Given the description of an element on the screen output the (x, y) to click on. 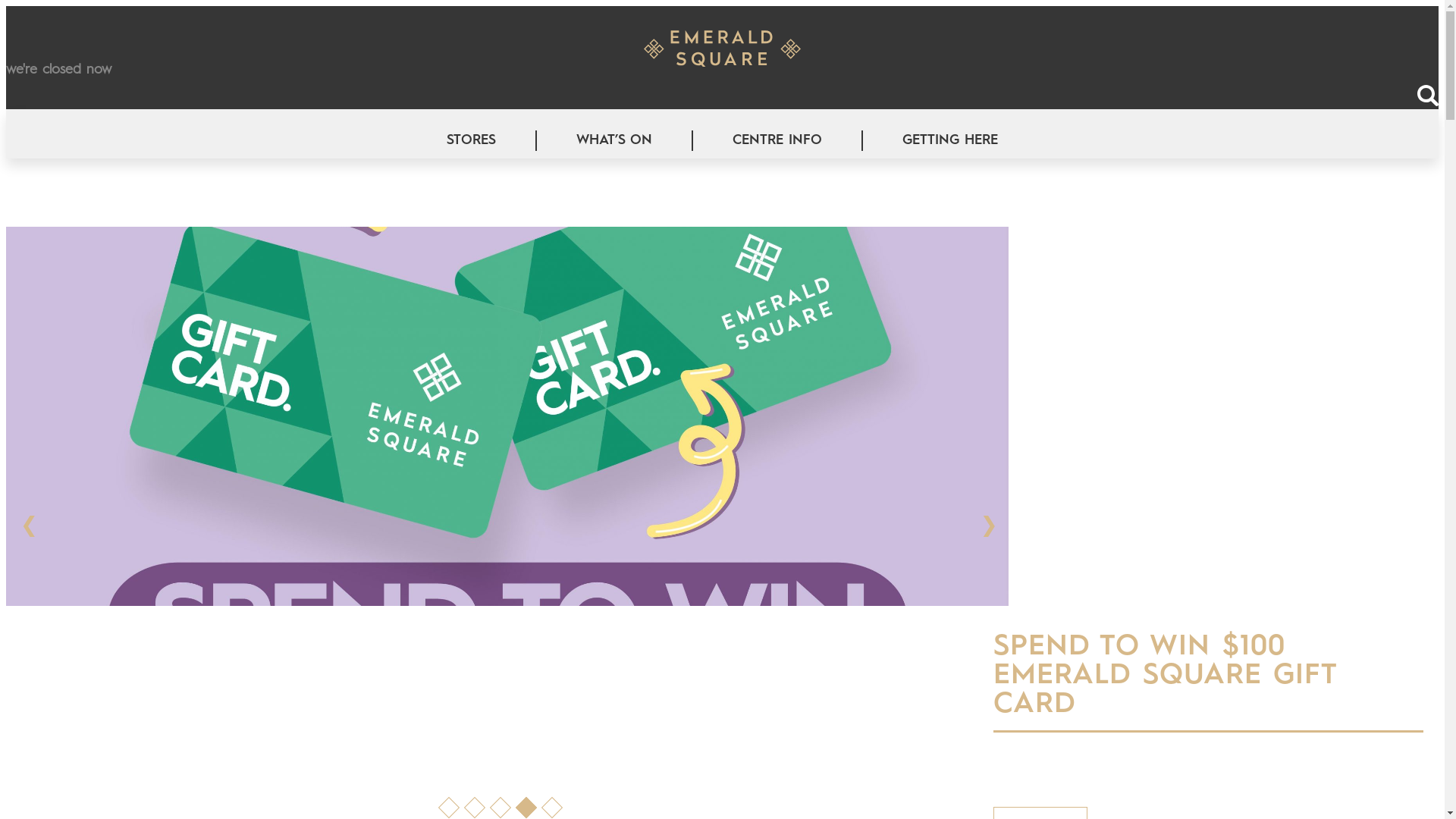
GETTING HERE Element type: text (949, 140)
CENTRE INFO Element type: text (777, 140)
STORES Element type: text (471, 140)
